Given the description of an element on the screen output the (x, y) to click on. 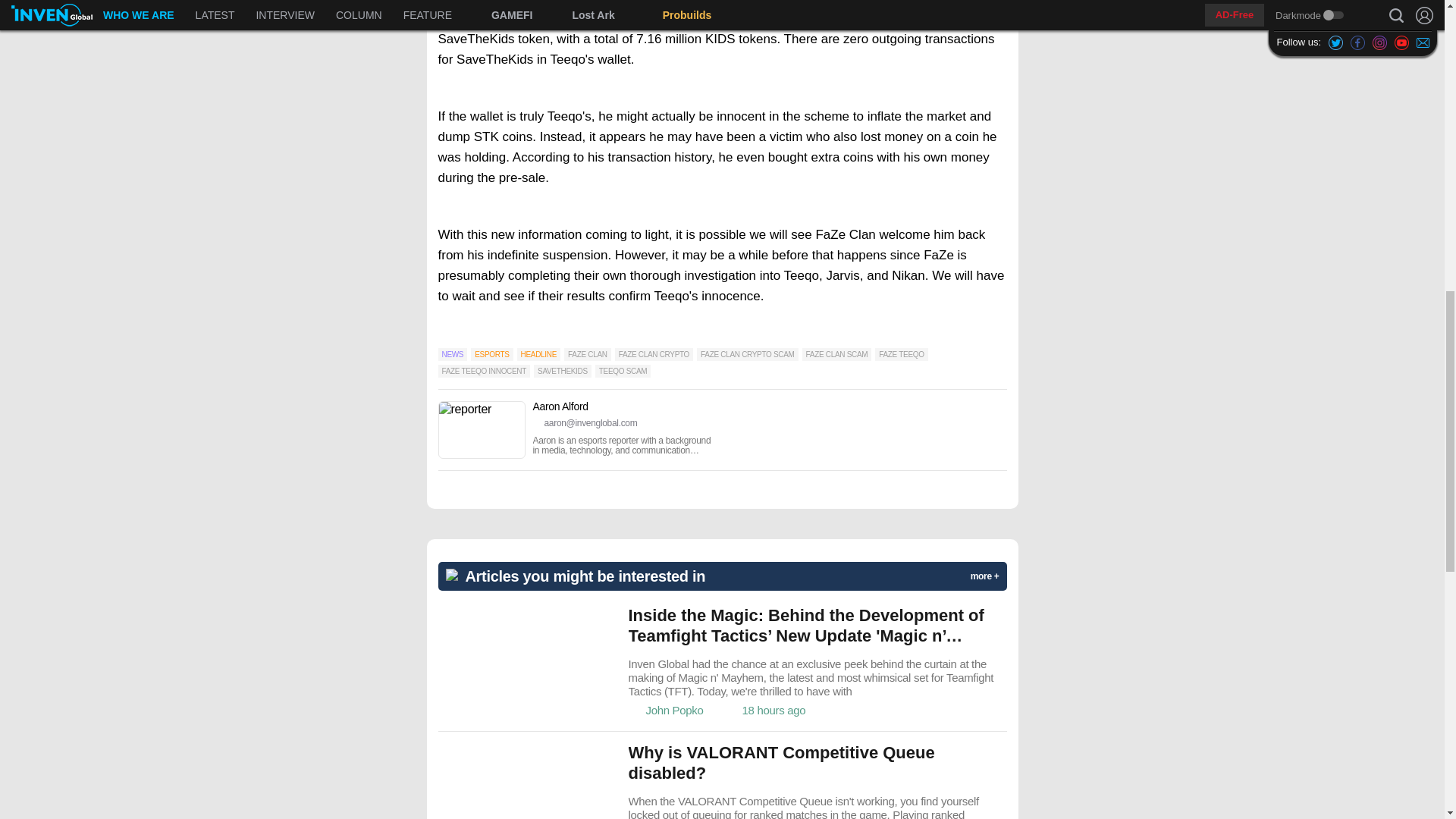
NEWS (452, 354)
